Given the description of an element on the screen output the (x, y) to click on. 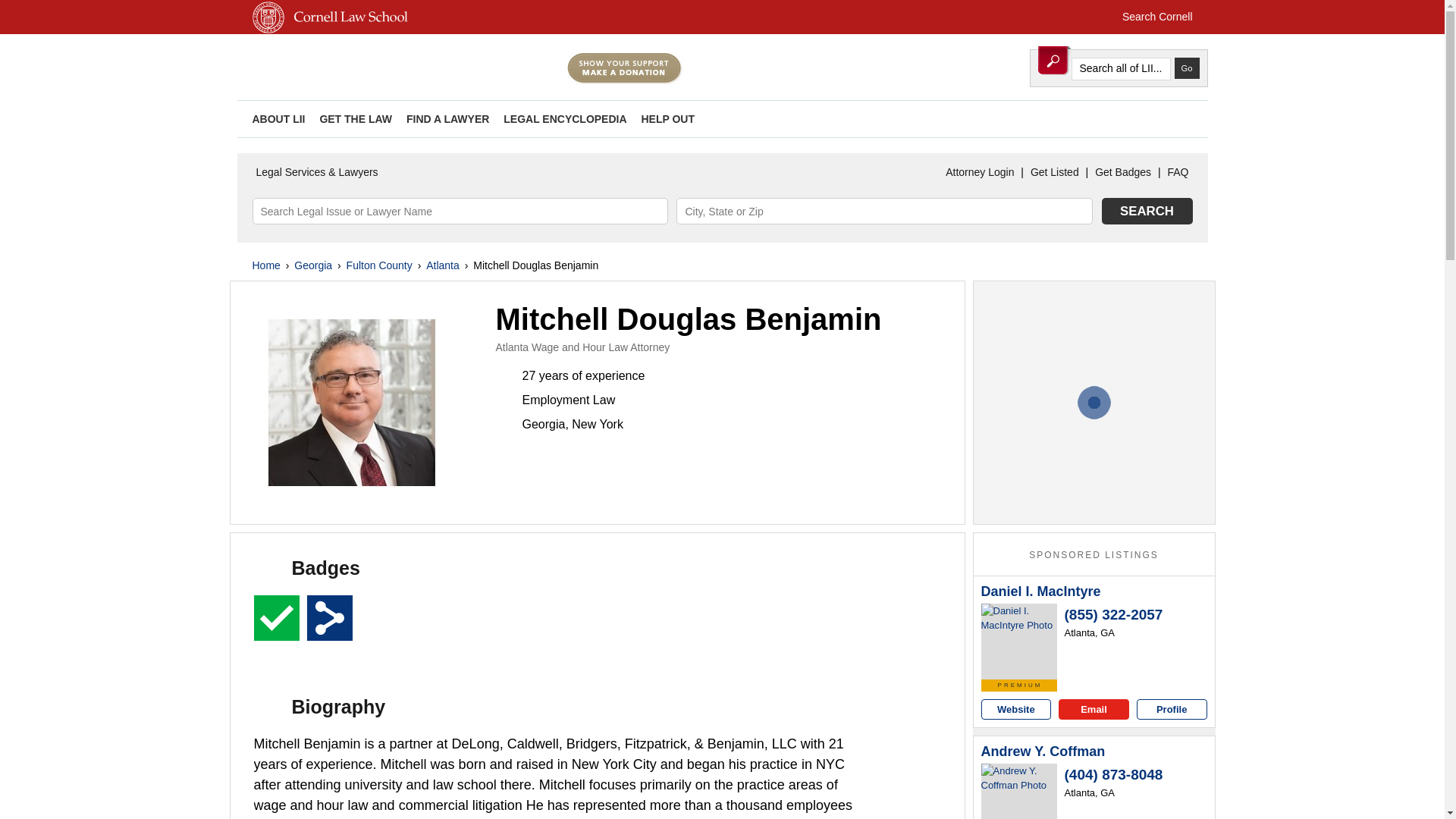
Search Legal Issue or Lawyer Name (459, 211)
Atlanta (443, 264)
ABOUT LII (277, 119)
Daniel I. MacIntyre (1040, 591)
facebook like (1173, 118)
twitter follow (1125, 118)
Home (265, 264)
Mitchell Douglas Benjamin (351, 402)
GET THE LAW (354, 119)
Fulton County (379, 264)
Daniel I. MacIntyre (1019, 641)
Cornell Law School (346, 29)
Andrew Y. Coffman (1043, 751)
FAQ (1177, 172)
City, State or Zip (885, 211)
